Given the description of an element on the screen output the (x, y) to click on. 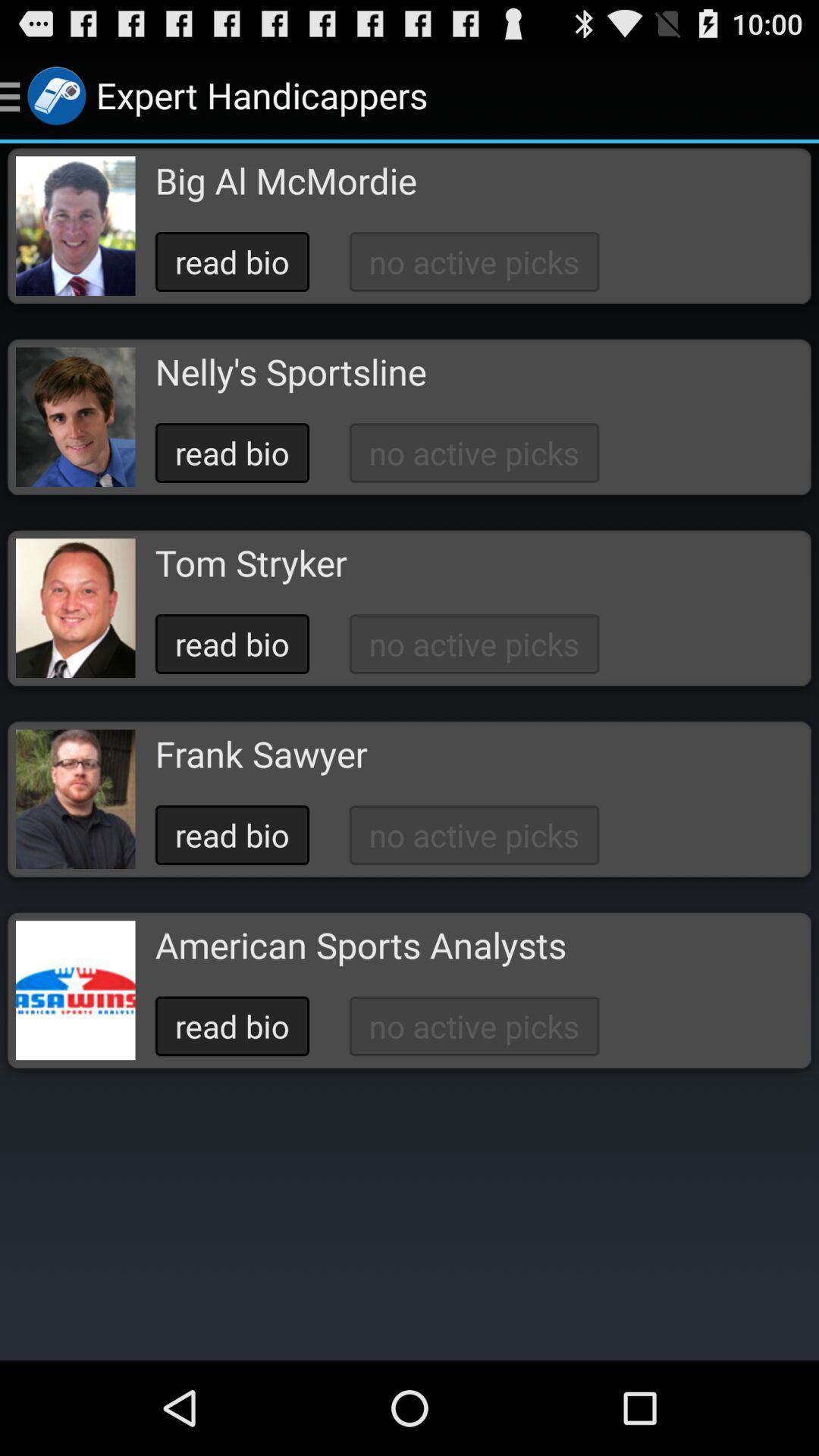
launch american sports analysts (360, 944)
